Given the description of an element on the screen output the (x, y) to click on. 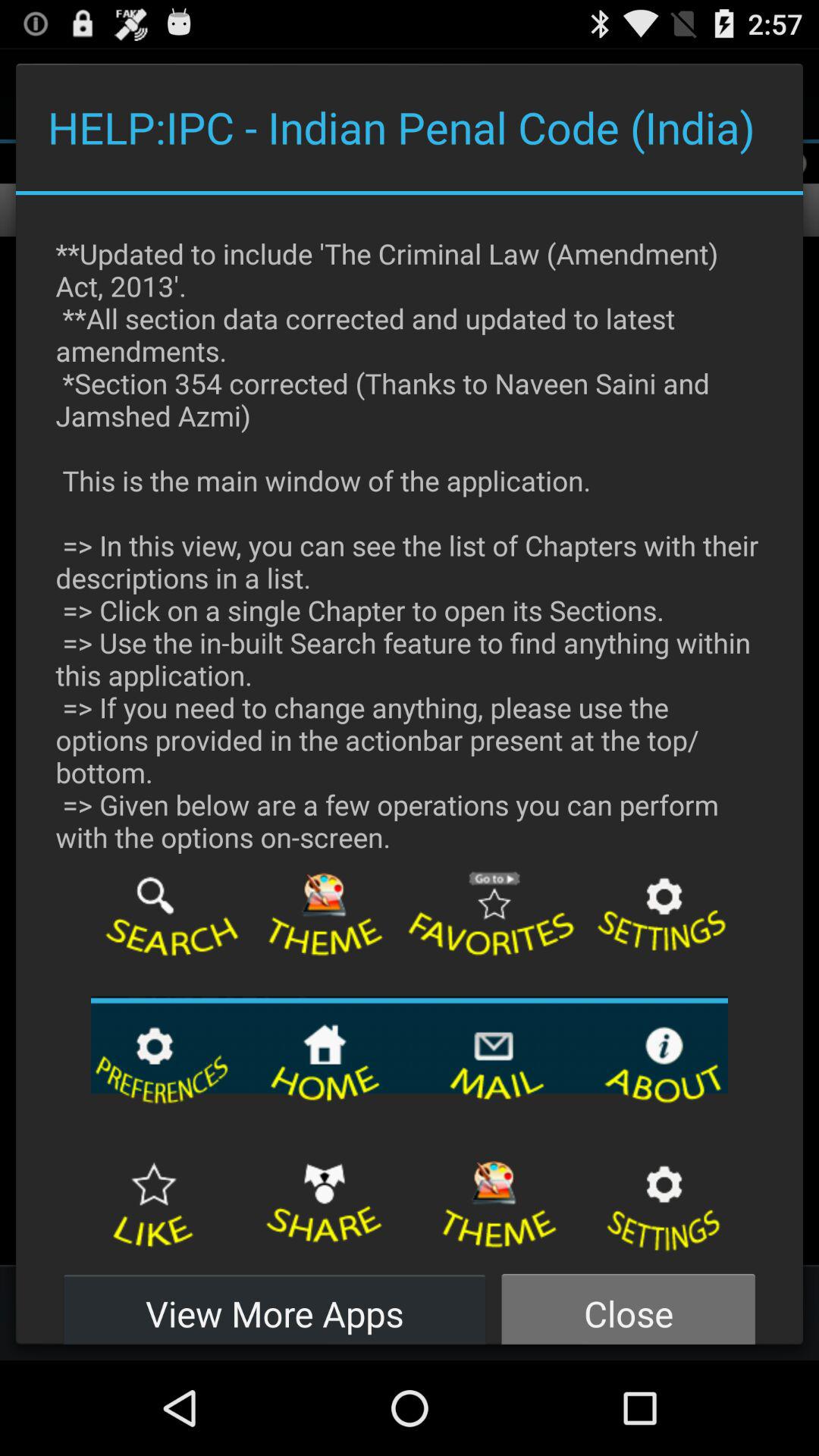
flip to the view more apps item (274, 1305)
